Given the description of an element on the screen output the (x, y) to click on. 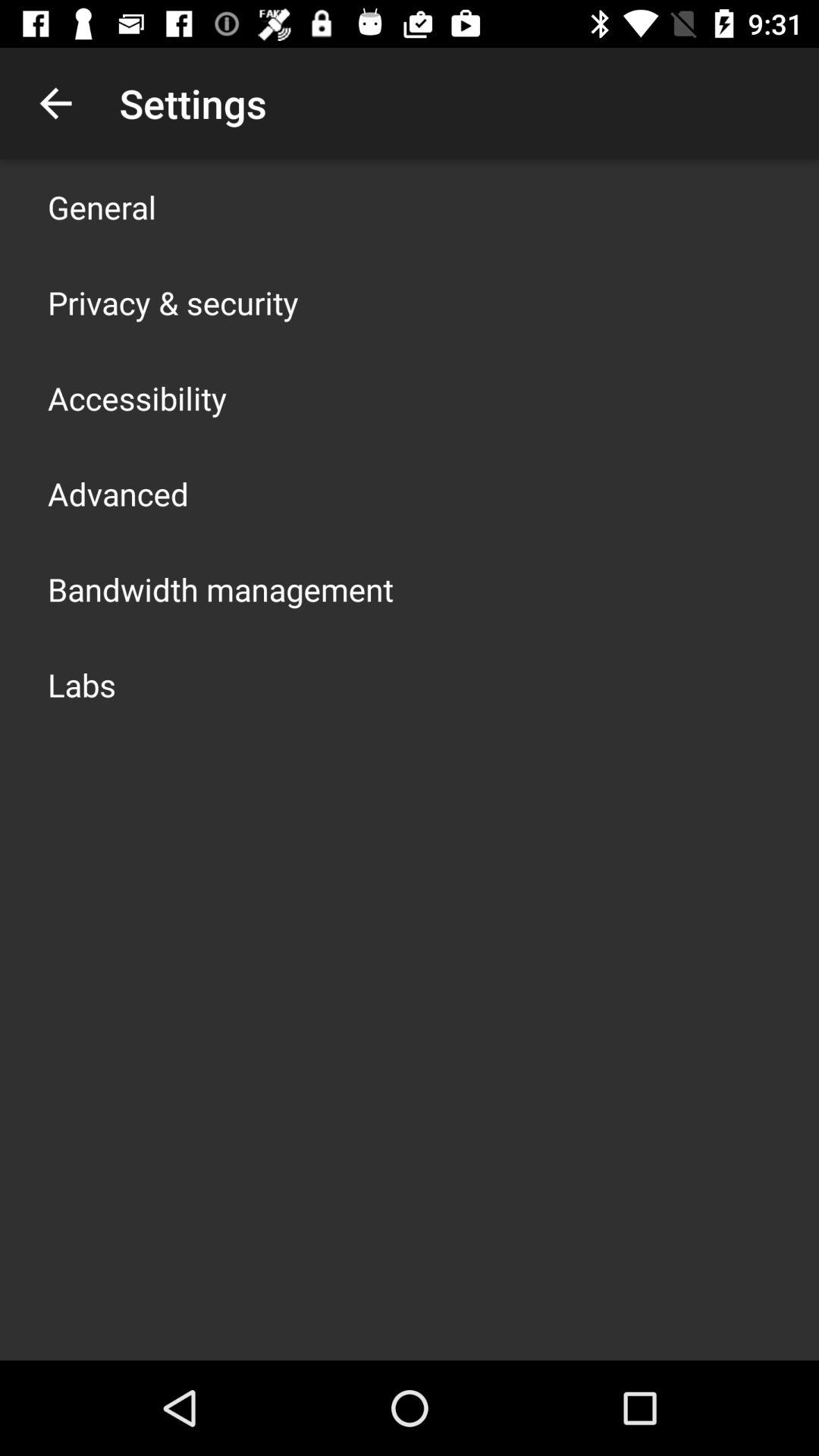
launch icon above privacy & security item (101, 206)
